Given the description of an element on the screen output the (x, y) to click on. 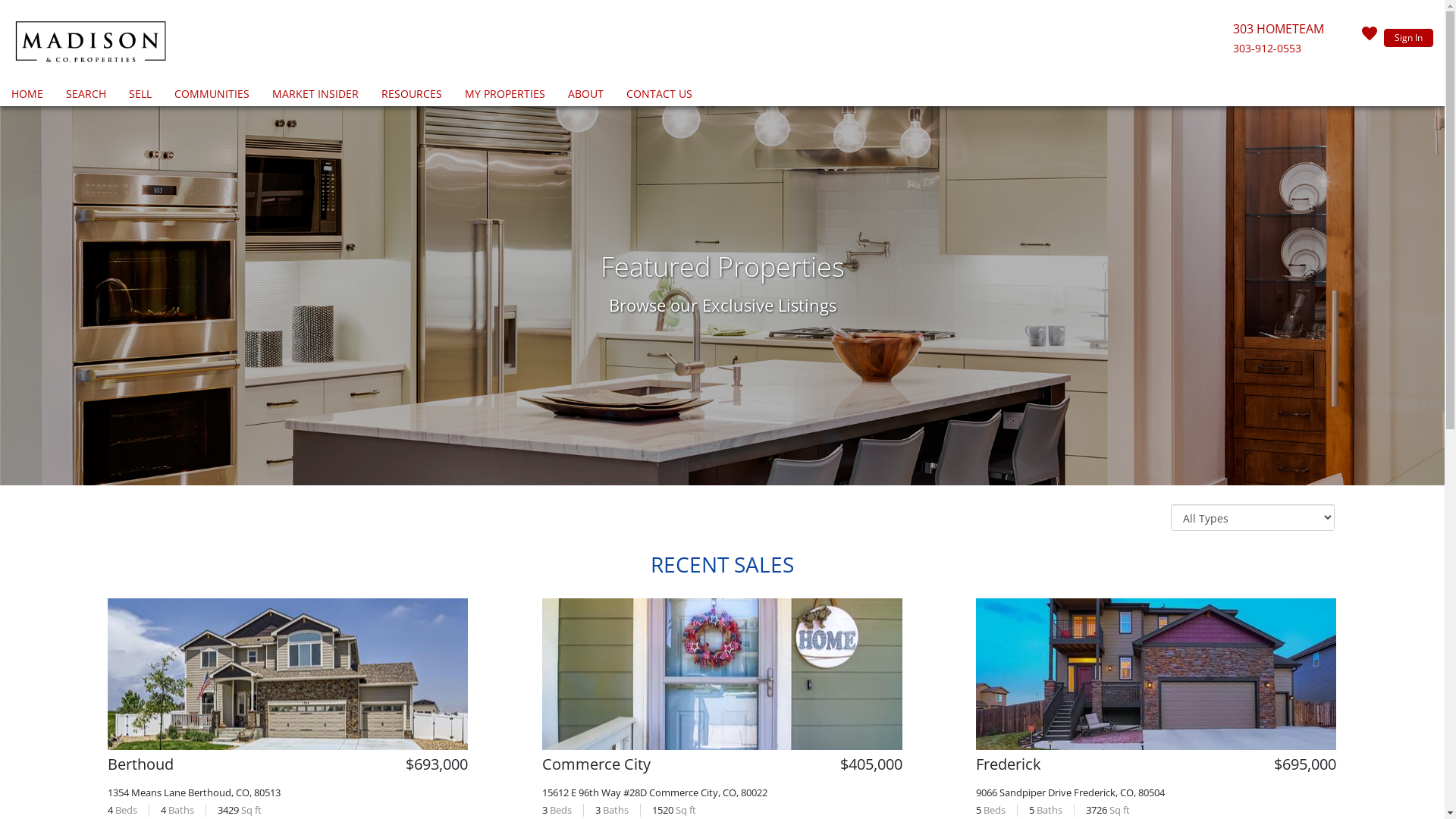
Sign In Element type: text (1408, 37)
SELL Element type: text (140, 95)
MY PROPERTIES Element type: text (505, 95)
RESOURCES Element type: text (411, 95)
303-912-0553 Element type: text (1267, 47)
SEARCH Element type: text (85, 95)
CONTACT US Element type: text (659, 95)
COMMUNITIES Element type: text (211, 95)
MARKET INSIDER Element type: text (315, 95)
HOME Element type: text (27, 95)
Click here to sign in Element type: hover (1369, 37)
ABOUT Element type: text (585, 95)
